Given the description of an element on the screen output the (x, y) to click on. 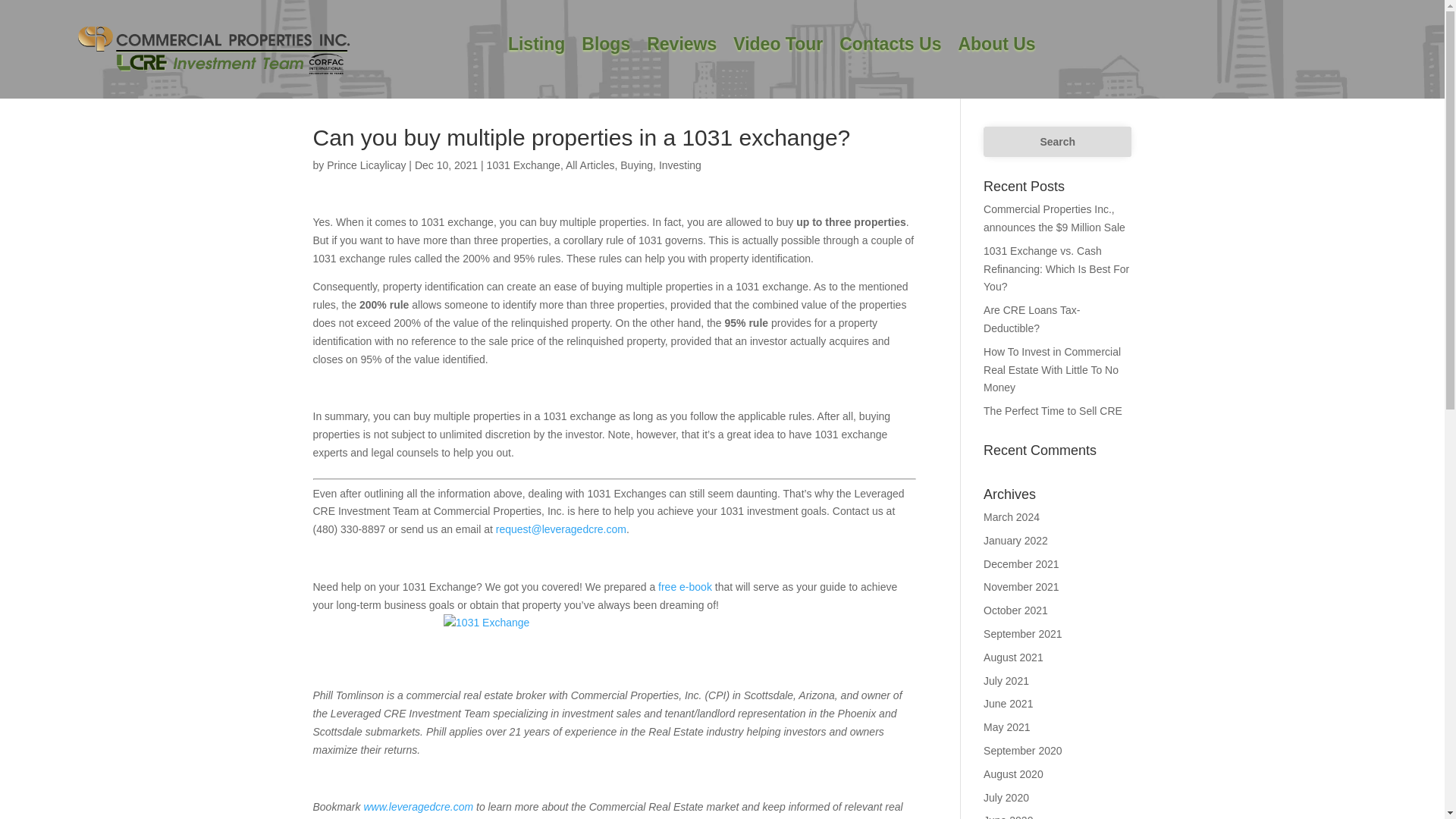
The Perfect Time to Sell CRE (1053, 410)
January 2022 (1016, 540)
Buying (636, 164)
About Us (996, 46)
Contacts Us (890, 46)
free e-book (683, 586)
Posts by Prince Licaylicay (366, 164)
Investing (680, 164)
Video Tour (777, 46)
www.leveragedcre.com (417, 806)
August 2021 (1013, 657)
May 2021 (1006, 727)
Search (1057, 141)
Search (1057, 141)
Reviews (681, 46)
